Given the description of an element on the screen output the (x, y) to click on. 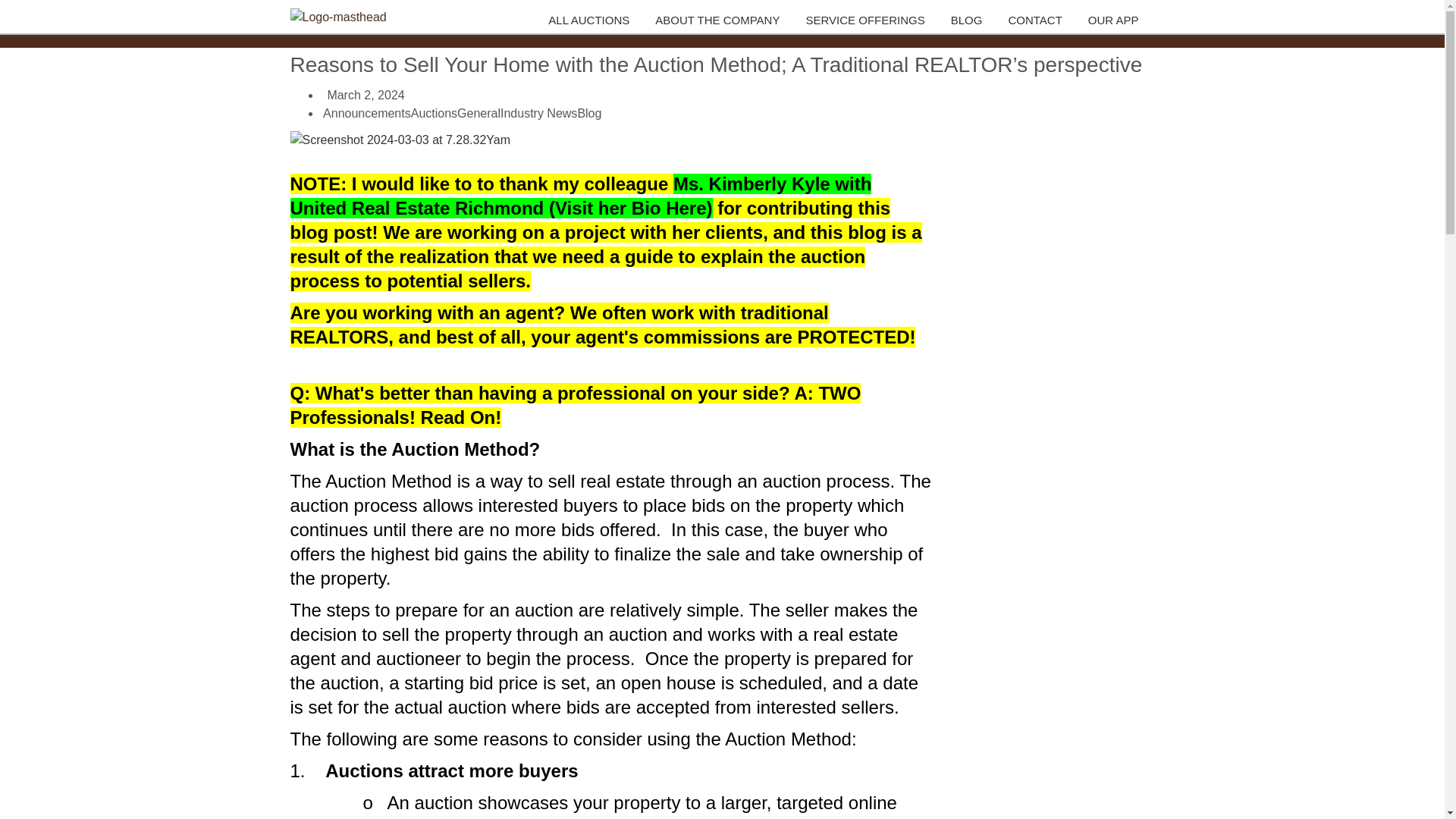
All Auctions (591, 20)
SERVICE OFFERINGS (867, 20)
Filter by Auctions (433, 113)
Auctions (433, 113)
OUR APP (1116, 20)
Announcements (366, 113)
Blog (588, 113)
BLOG (969, 20)
Our App (1116, 20)
Industry News (538, 113)
Blog (969, 20)
ABOUT THE COMPANY (719, 20)
ALL AUCTIONS (591, 20)
CONTACT (1037, 20)
Contact (1037, 20)
